Given the description of an element on the screen output the (x, y) to click on. 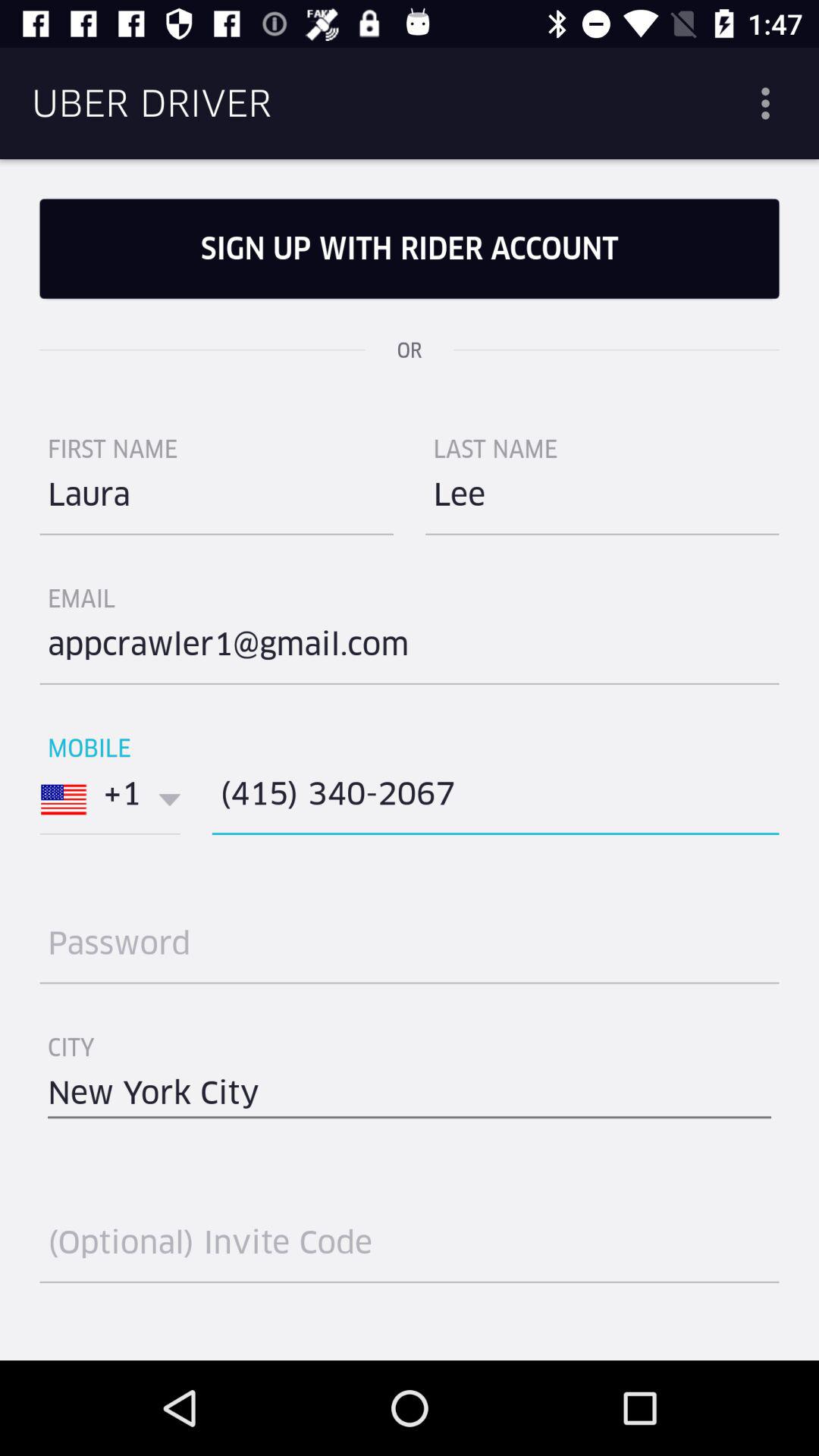
click the item below the city icon (409, 1099)
